Given the description of an element on the screen output the (x, y) to click on. 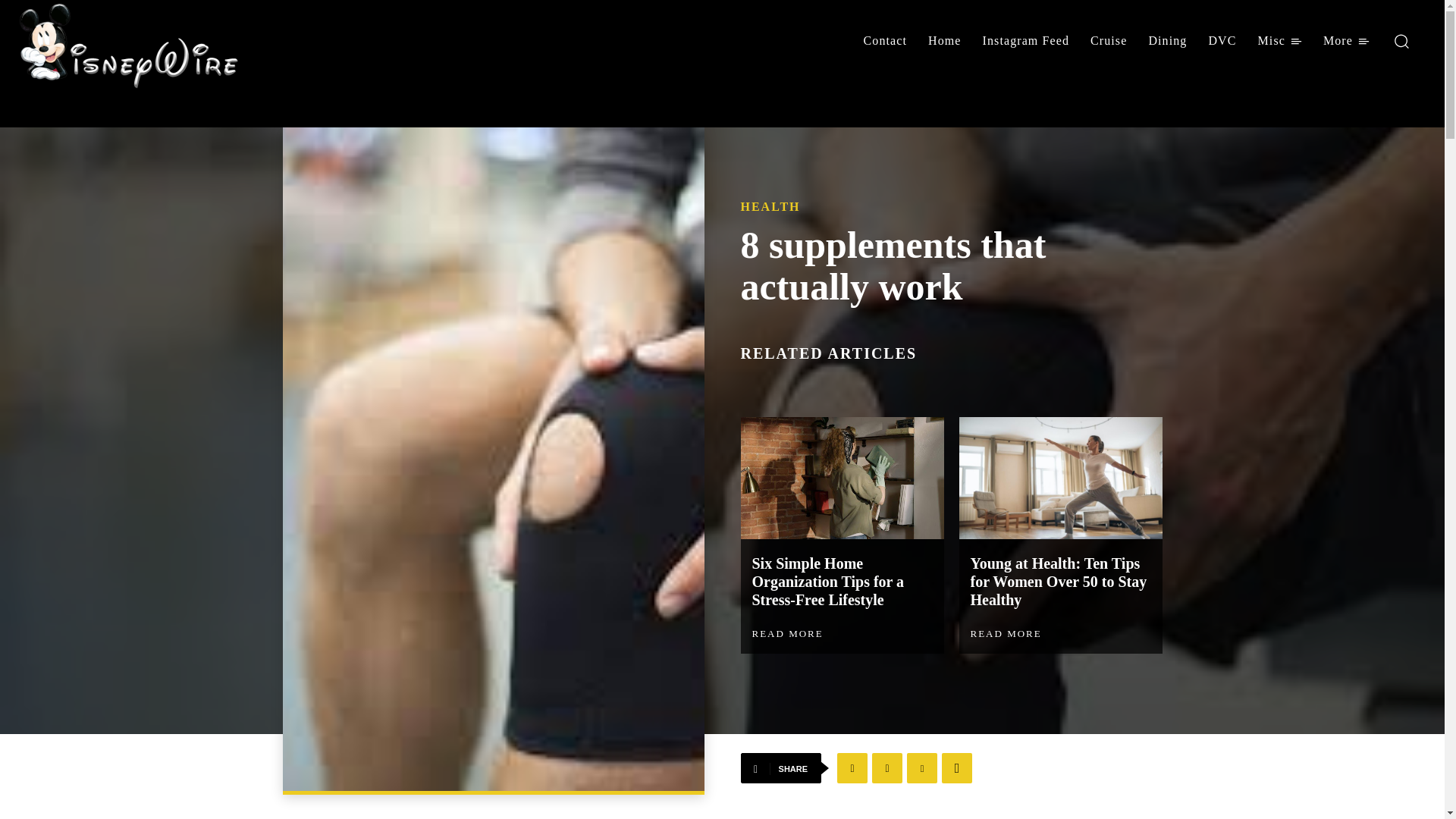
READ MORE (788, 633)
Twitter (887, 767)
Young at Health: Ten Tips for Women Over 50 to Stay Healthy (1059, 477)
Dining (1166, 40)
Home (944, 40)
Cruise (1108, 40)
Facebook (852, 767)
More (1346, 40)
WhatsApp (957, 767)
Instagram Feed (1026, 40)
HEALTH (769, 206)
Young at Health: Ten Tips for Women Over 50 to Stay Healthy (1059, 581)
